Given the description of an element on the screen output the (x, y) to click on. 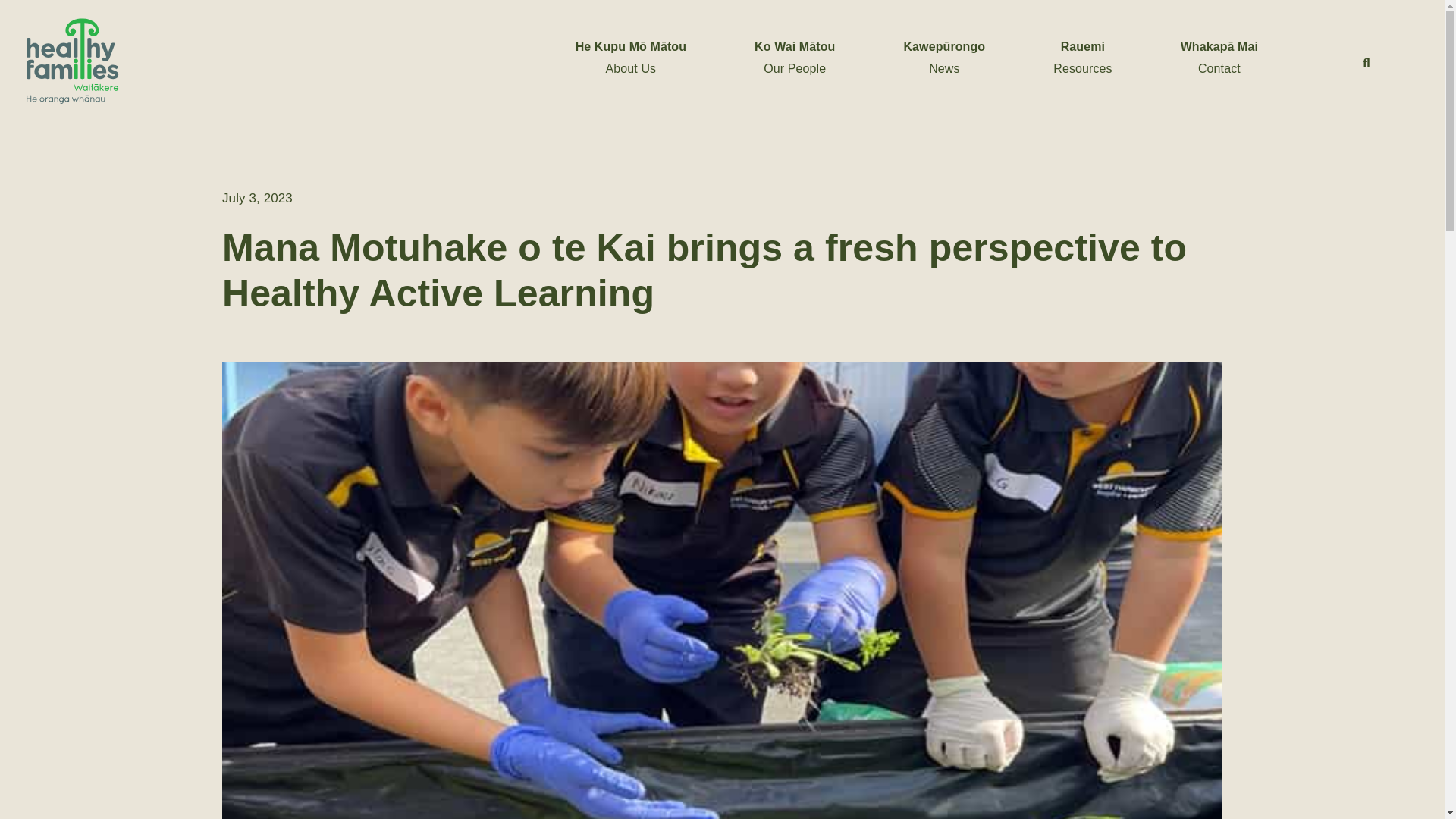
Resources (1082, 68)
Contact (1219, 68)
News (943, 68)
Our People (793, 68)
search-button (1366, 62)
Rauemi (1083, 46)
About Us (630, 68)
